Given the description of an element on the screen output the (x, y) to click on. 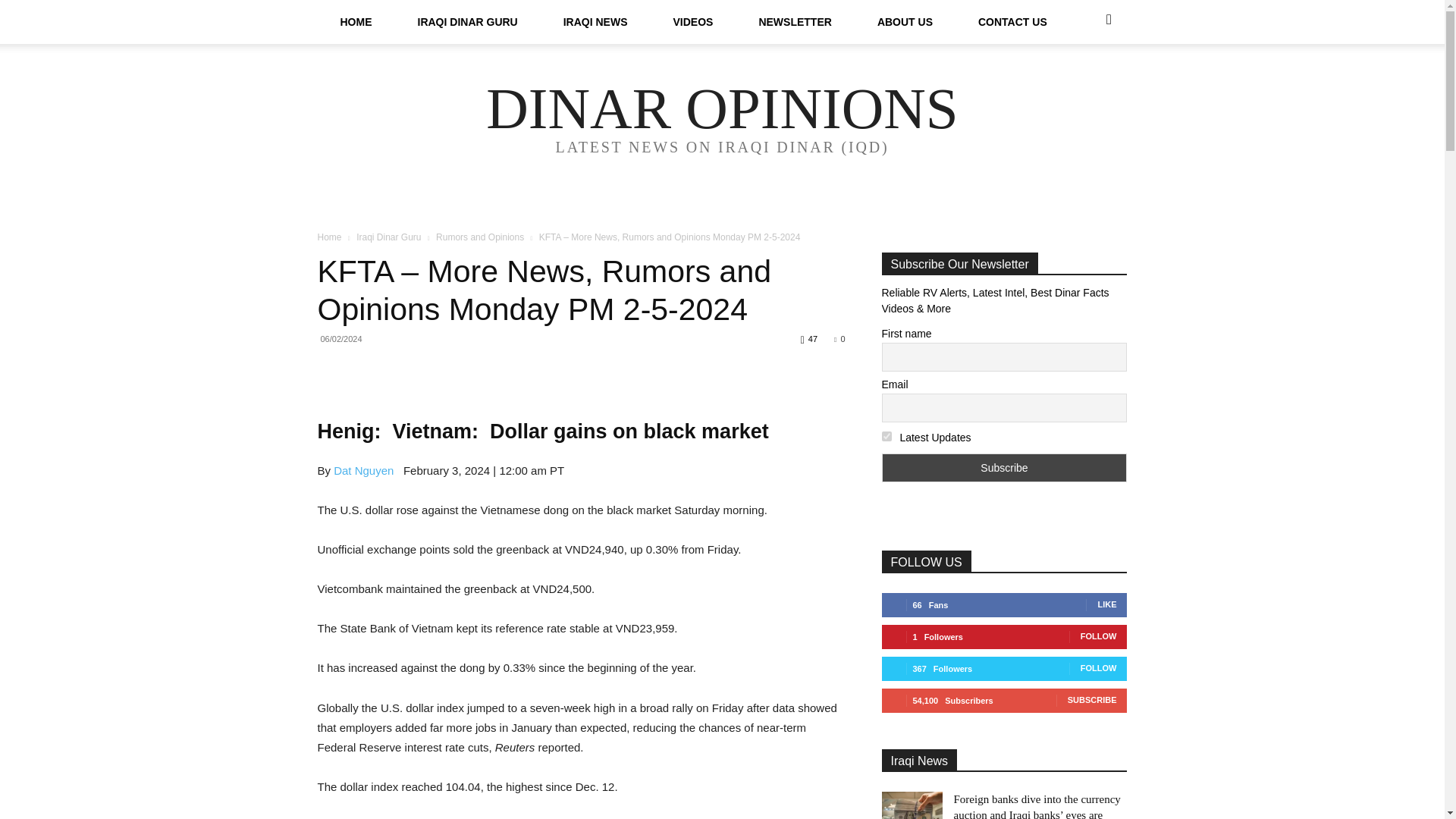
View all posts in Rumors and Opinions (479, 236)
ABOUT US (904, 22)
IRAQI NEWS (595, 22)
Search (1085, 81)
Dat Nguyen (363, 470)
HOME (355, 22)
VIDEOS (693, 22)
Rumors and Opinions (479, 236)
NEWSLETTER (794, 22)
0 (839, 338)
